Given the description of an element on the screen output the (x, y) to click on. 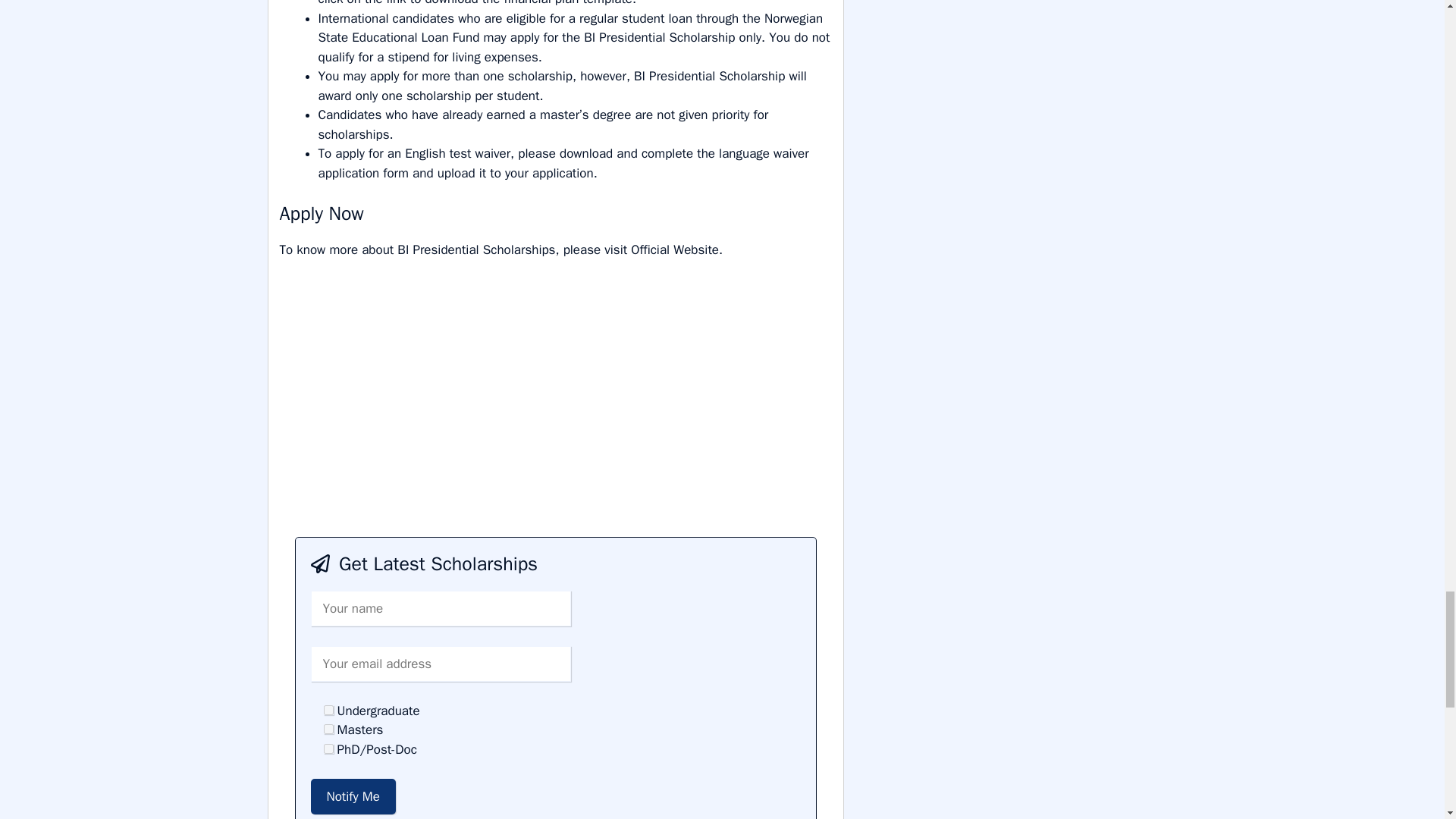
Masters (328, 728)
Undergraduate (328, 709)
Notify Me (353, 796)
